Given the description of an element on the screen output the (x, y) to click on. 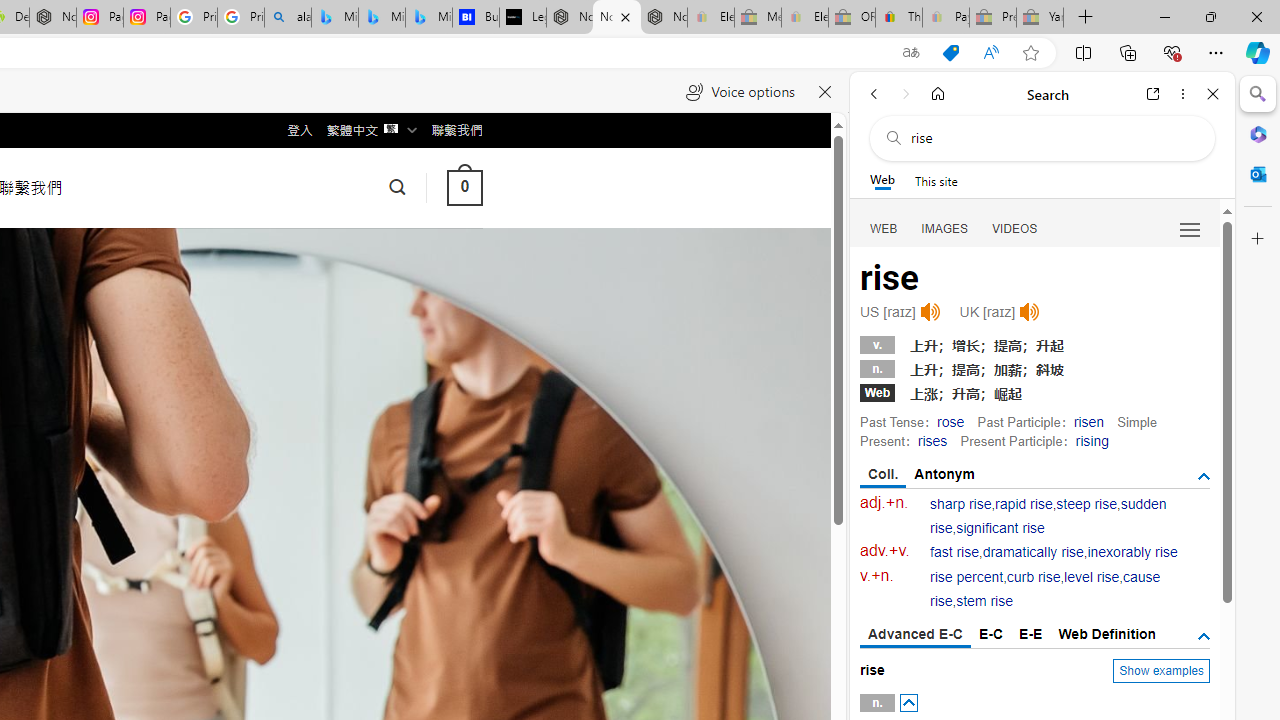
significant rise (1000, 528)
steep rise (1086, 503)
sharp rise (961, 503)
WEB (884, 228)
